Given the description of an element on the screen output the (x, y) to click on. 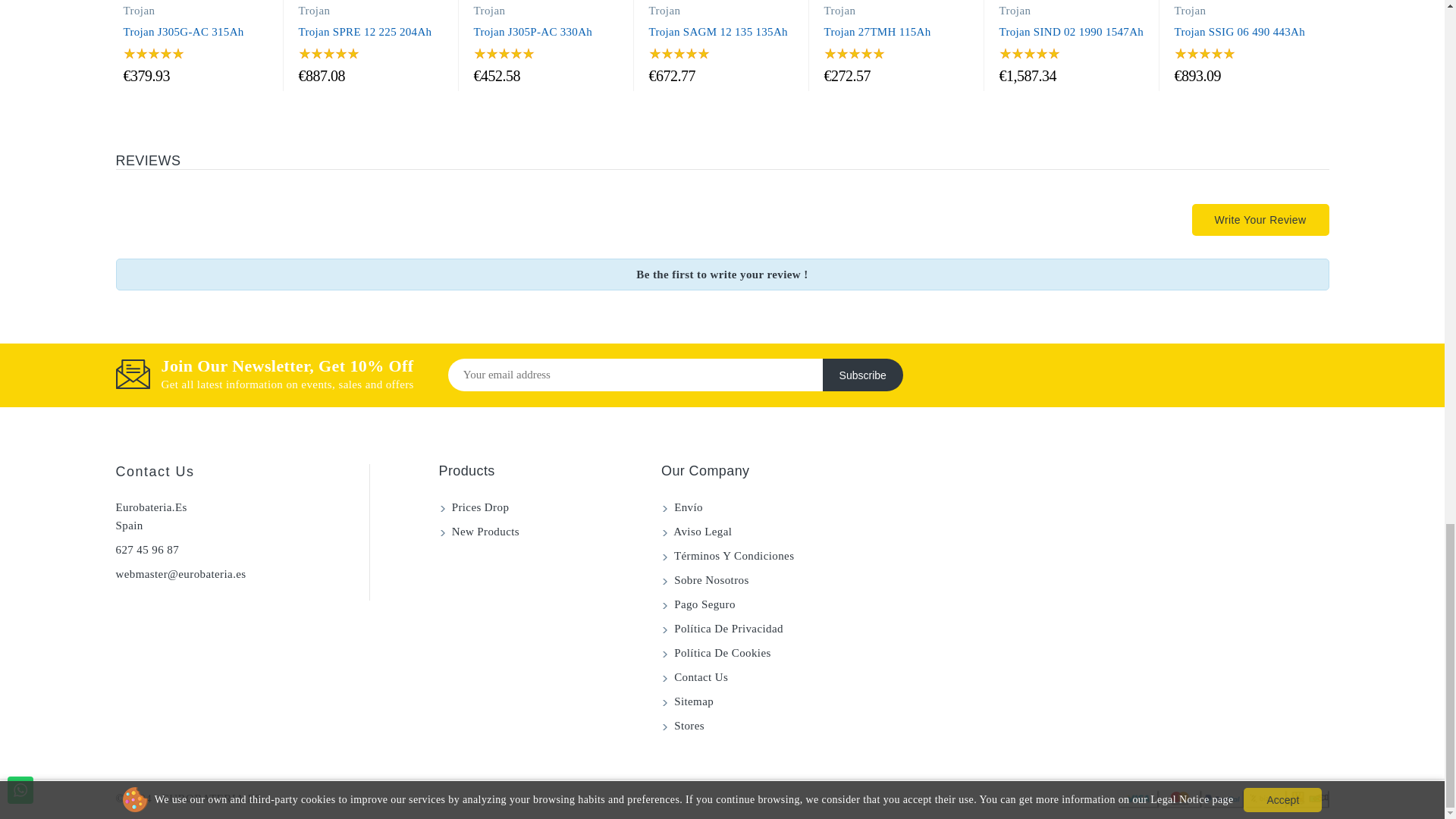
Subscribe (862, 374)
